Given the description of an element on the screen output the (x, y) to click on. 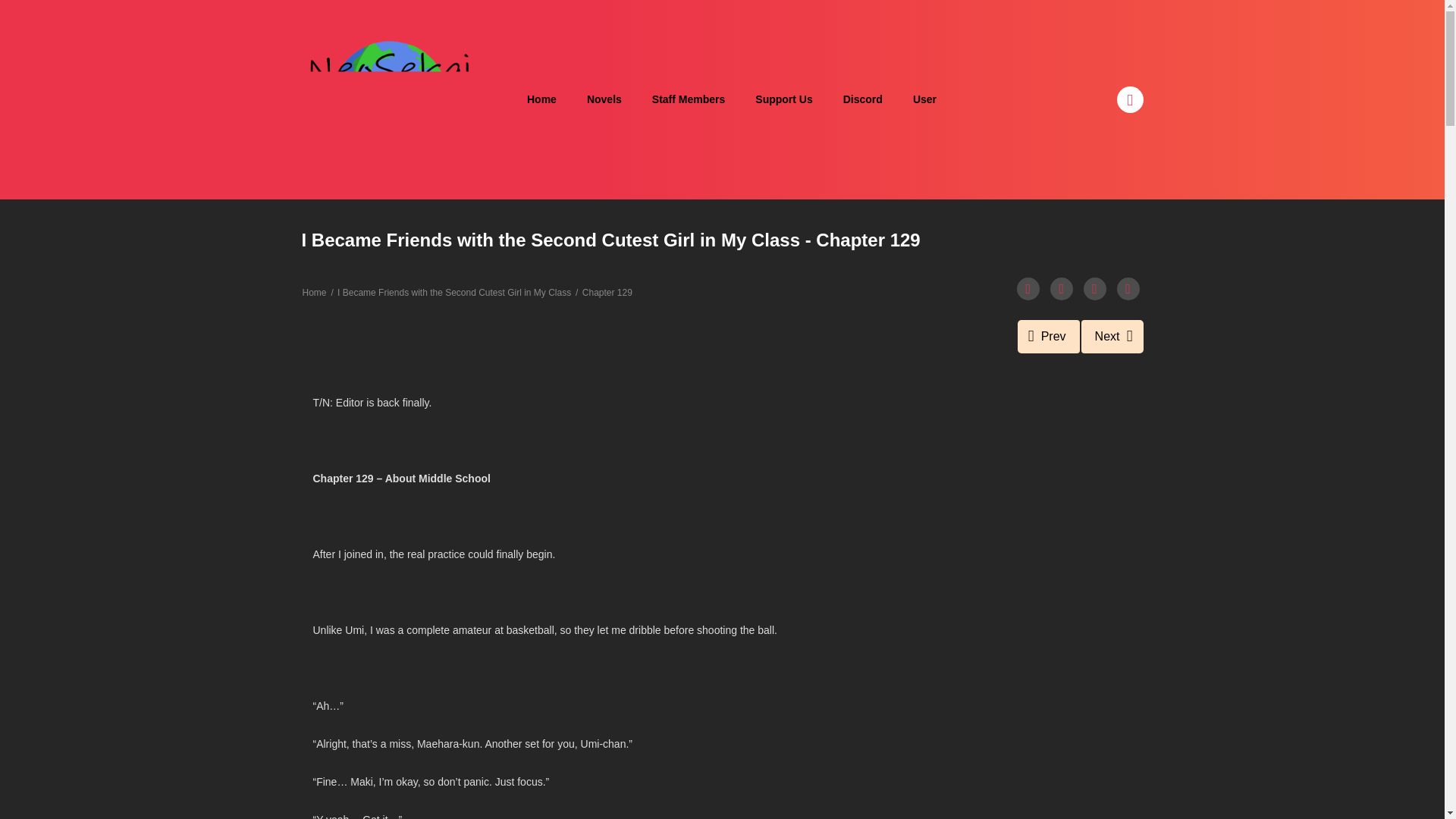
Discord (863, 99)
Staff Members (688, 99)
Search (970, 9)
Home (313, 292)
Chapter 128 (1048, 336)
NeoSekai Translations (389, 98)
Novels (604, 99)
Next (1111, 336)
User (925, 99)
Home (542, 99)
